Given the description of an element on the screen output the (x, y) to click on. 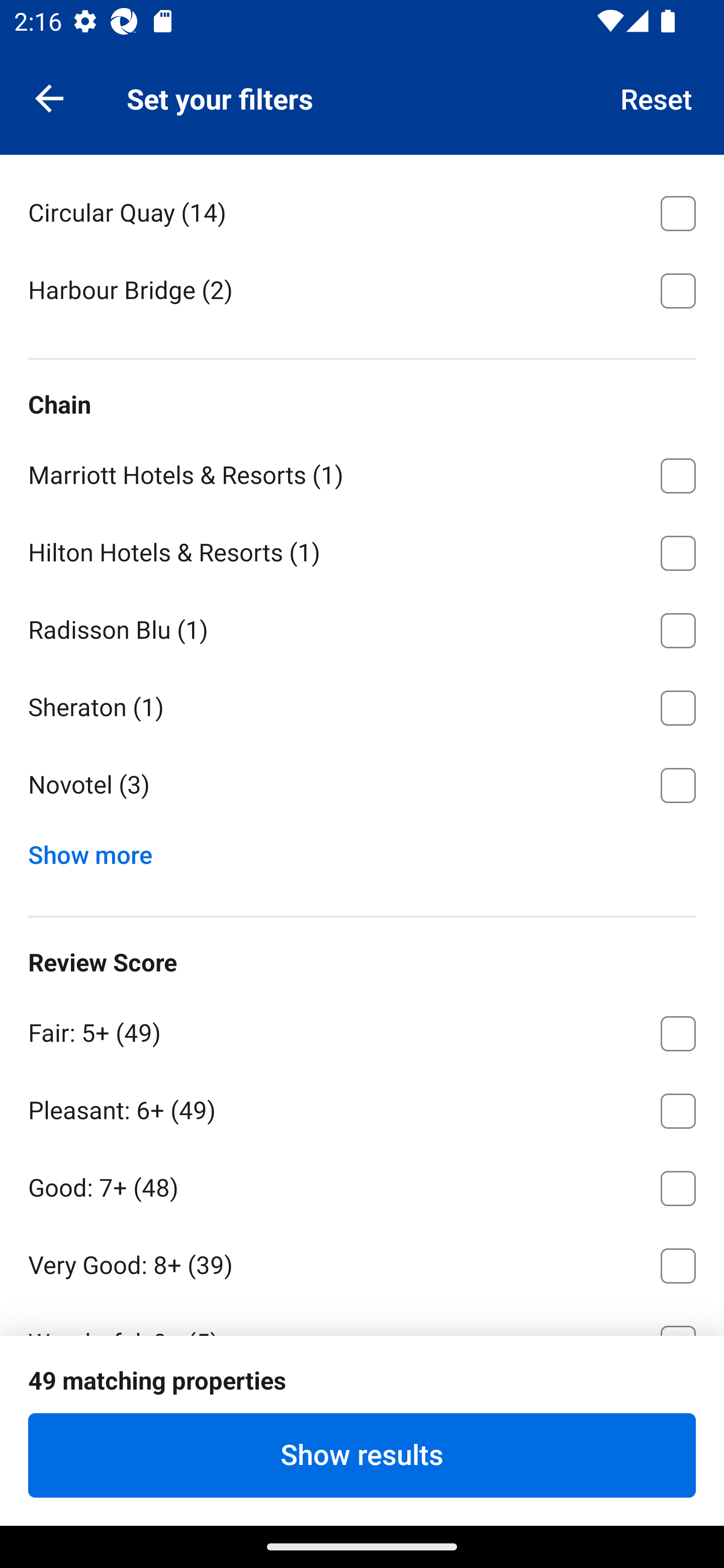
Navigate up (49, 97)
Reset (656, 97)
Circular Quay ⁦(14) (361, 209)
Harbour Bridge ⁦(2) (361, 289)
Marriott Hotels & Resorts ⁦(1) (361, 472)
Hilton Hotels & Resorts ⁦(1) (361, 549)
Radisson Blu ⁦(1) (361, 627)
Sheraton ⁦(1) (361, 704)
Novotel ⁦(3) (361, 785)
Show more (97, 850)
Fair: 5+ ⁦(49) (361, 1029)
Pleasant: 6+ ⁦(49) (361, 1107)
Good: 7+ ⁦(48) (361, 1184)
Very Good: 8+ ⁦(39) (361, 1262)
Show results (361, 1454)
